Given the description of an element on the screen output the (x, y) to click on. 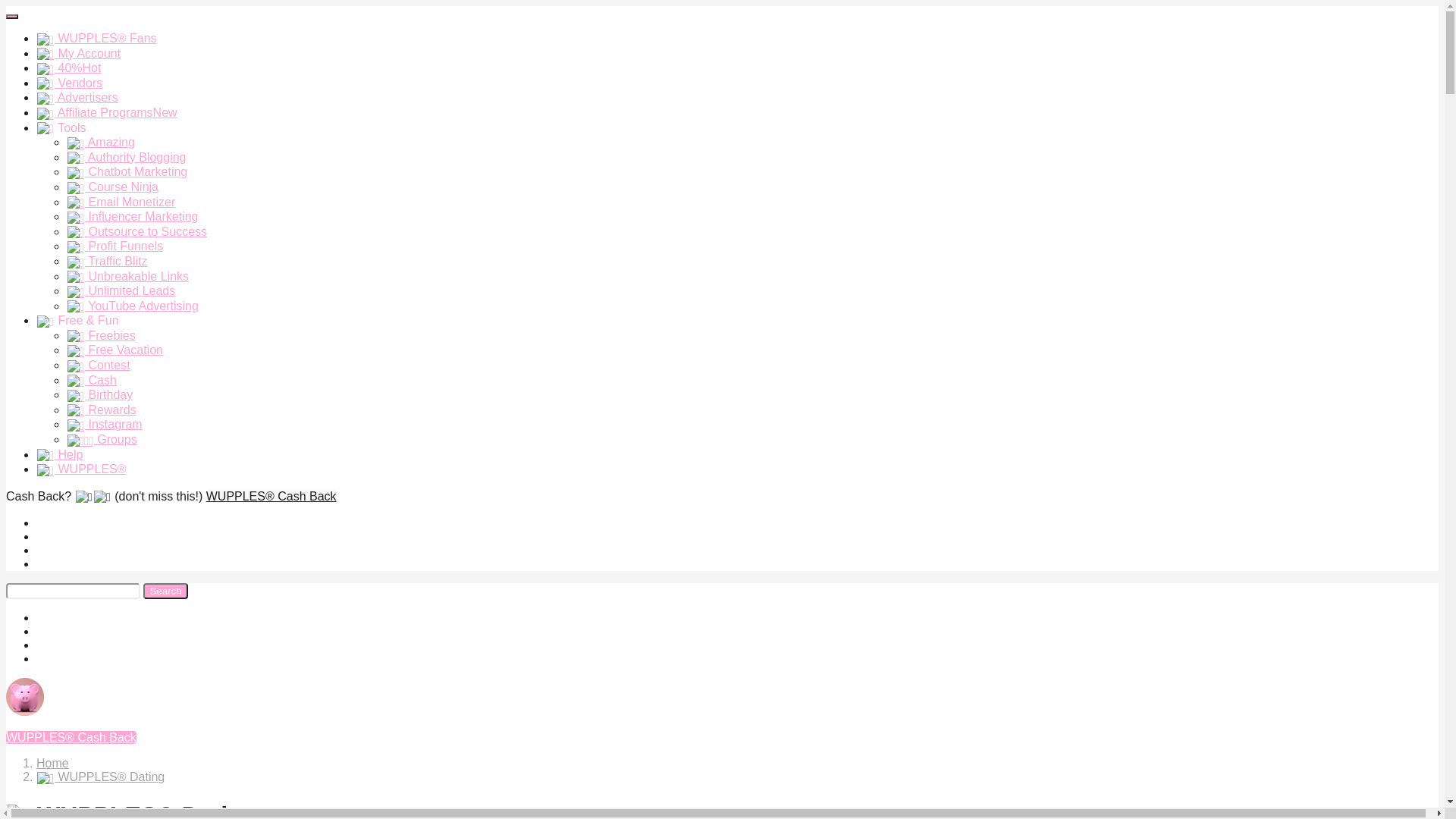
Tools Element type: text (61, 127)
Unlimited Leads Element type: text (120, 290)
Search Element type: text (165, 591)
Help Element type: text (59, 454)
Email Monetizer Element type: text (120, 201)
Outsource to Success Element type: text (136, 231)
Groups Element type: text (101, 439)
Vendors Element type: text (69, 82)
Home Element type: text (52, 762)
Profit Funnels Element type: text (114, 245)
My Account Element type: text (78, 53)
Freebies Element type: text (100, 335)
Cash Element type: text (91, 379)
YouTube Advertising Element type: text (132, 305)
Amazing Element type: text (100, 141)
Contest Element type: text (98, 364)
Affiliate ProgramsNew Element type: text (106, 112)
Free Vacation Element type: text (114, 349)
Course Ninja Element type: text (112, 186)
Advertisers Element type: text (77, 97)
Rewards Element type: text (101, 409)
Chatbot Marketing Element type: text (126, 171)
Traffic Blitz Element type: text (106, 260)
Authority Blogging Element type: text (125, 156)
Influencer Marketing Element type: text (131, 216)
Free & Fun Element type: text (77, 319)
Instagram Element type: text (104, 423)
40%Hot Element type: text (68, 67)
Unbreakable Links Element type: text (127, 275)
Birthday Element type: text (99, 394)
